Given the description of an element on the screen output the (x, y) to click on. 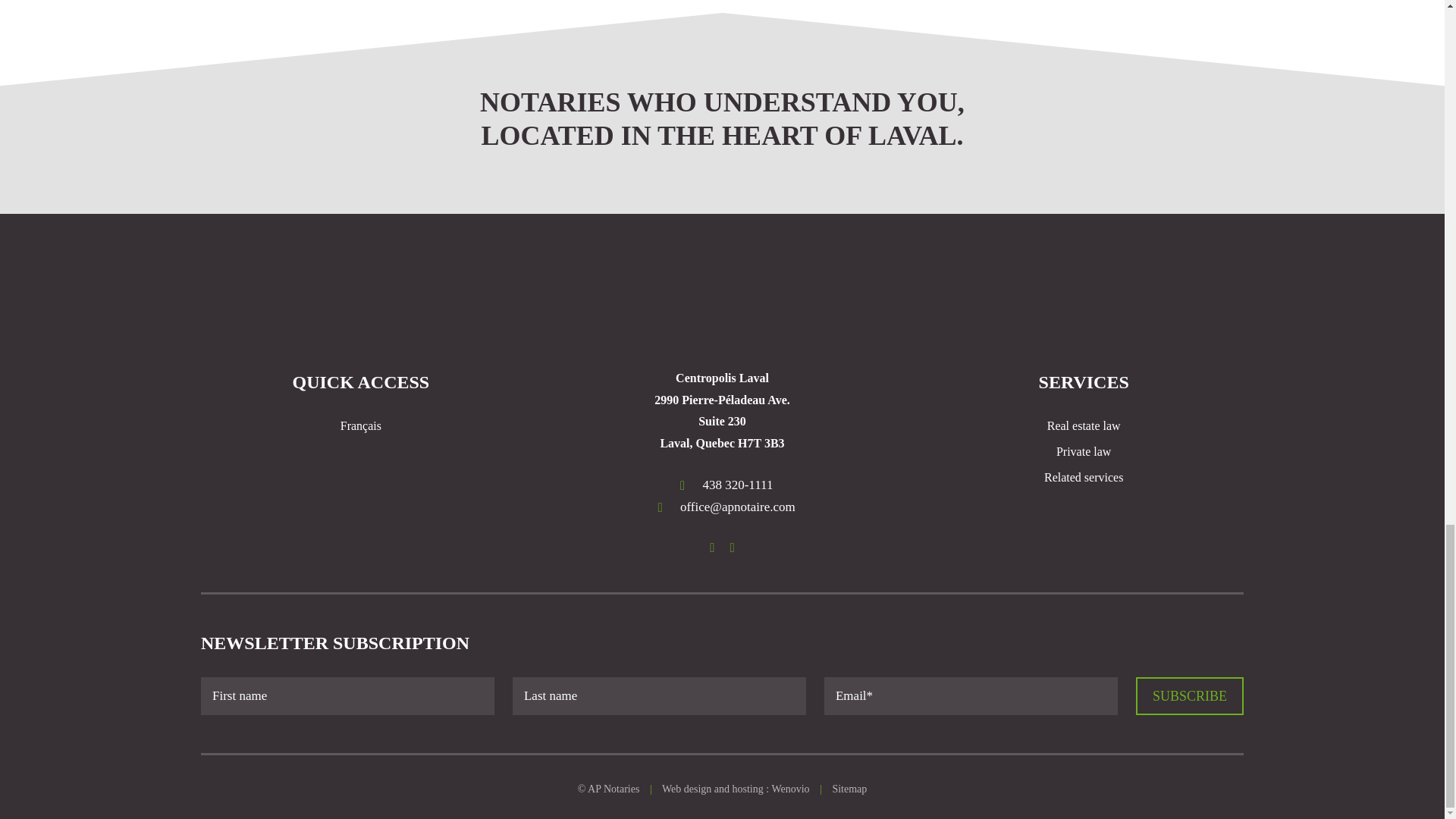
logo-ap-notaire-blanc (722, 309)
Subscribe (1189, 695)
